Given the description of an element on the screen output the (x, y) to click on. 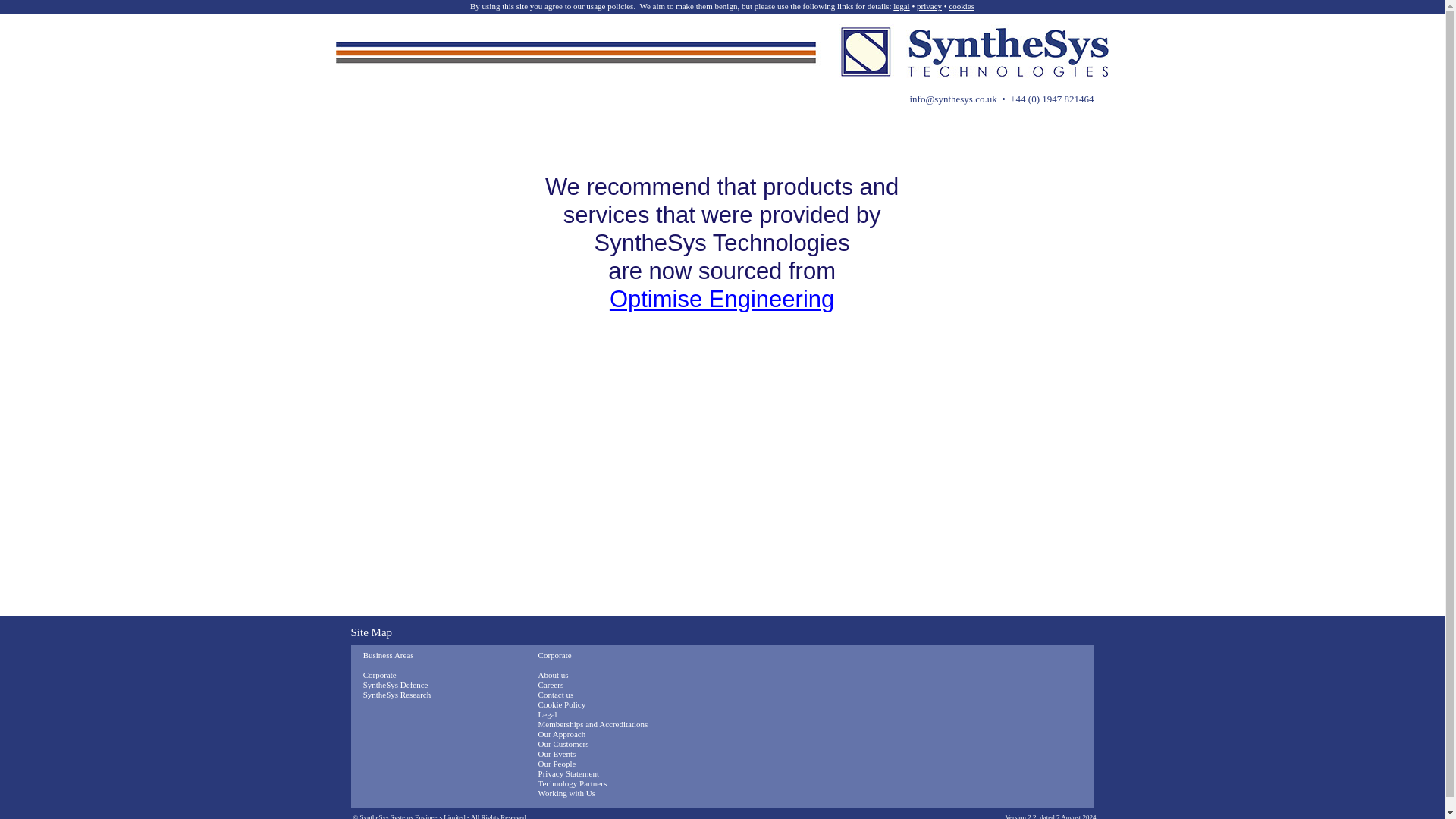
About us (553, 674)
Send an email to SyntheSys. (951, 98)
Click here to go to our SyntheSys Research website. (396, 694)
Our Events (557, 753)
Click here to go to the SyntheSys Corporate website. (379, 674)
privacy (929, 5)
Cookie Policy (562, 704)
Corporate (379, 674)
cookies (961, 5)
SyntheSys Research (396, 694)
